Given the description of an element on the screen output the (x, y) to click on. 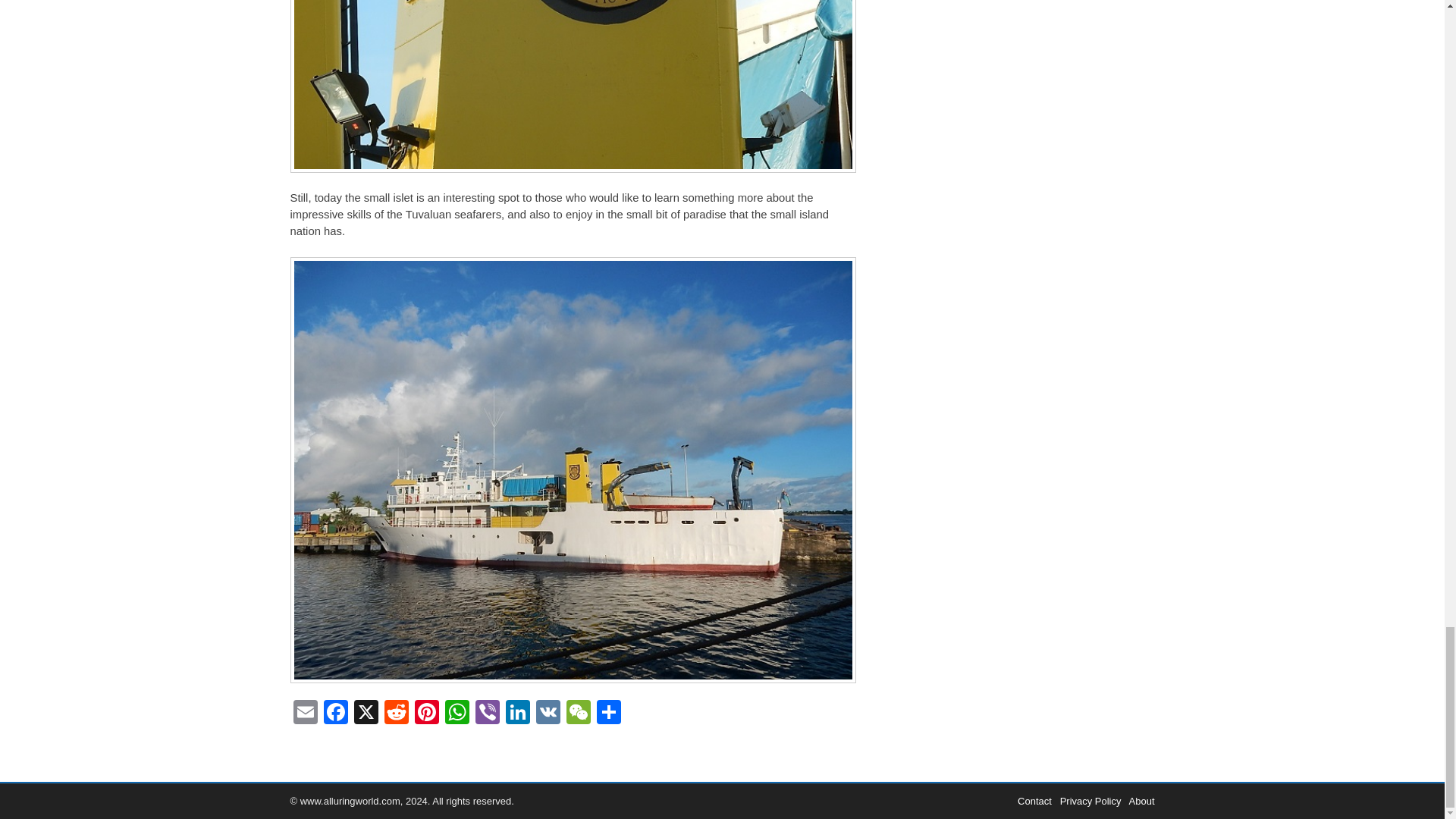
WhatsApp (456, 714)
Email (304, 714)
LinkedIn (517, 714)
Reddit (395, 714)
Reddit (395, 714)
X (365, 714)
VK (547, 714)
Facebook (335, 714)
WhatsApp (456, 714)
Viber (486, 714)
